Given the description of an element on the screen output the (x, y) to click on. 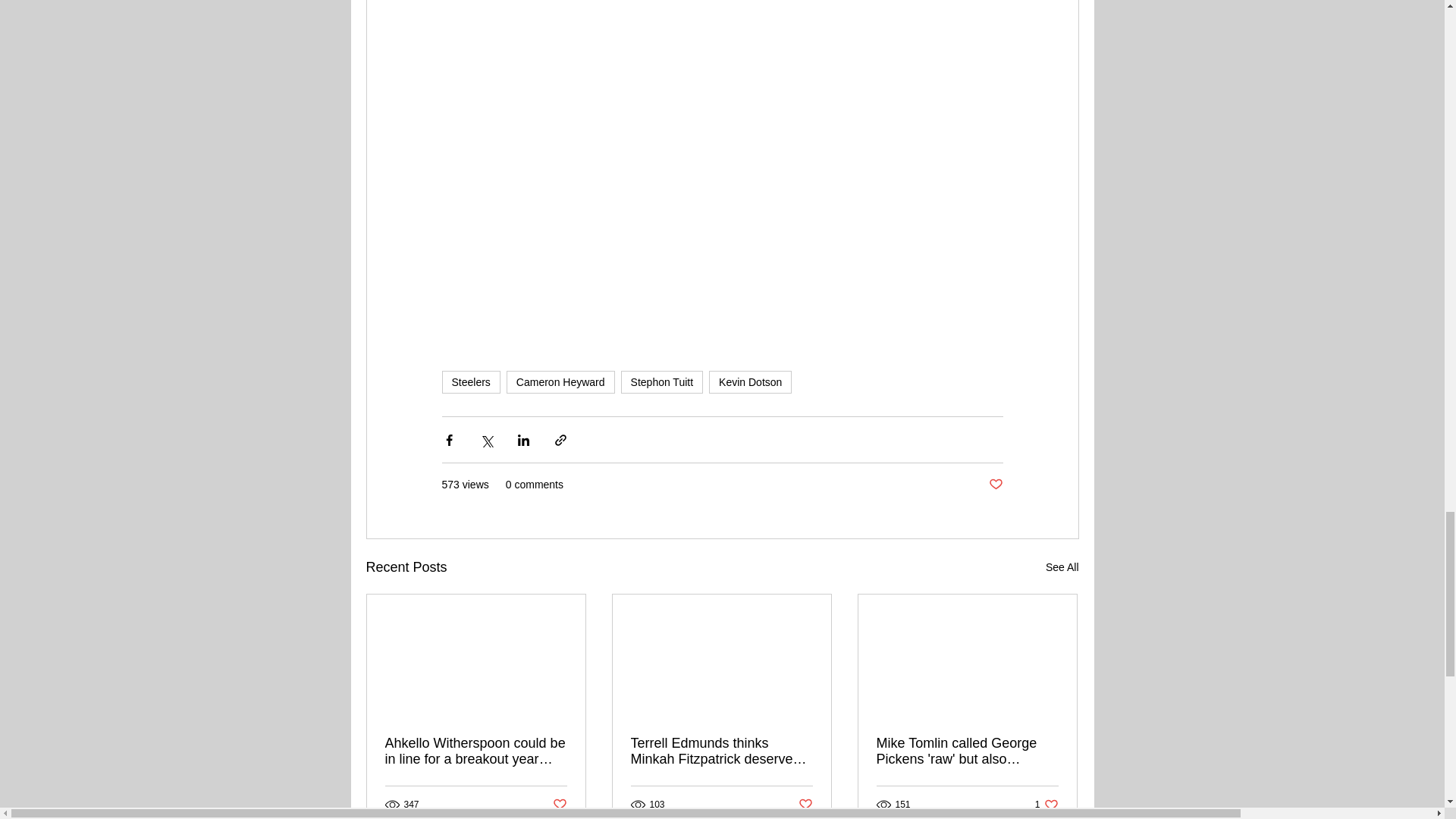
Steelers (470, 382)
Post not marked as liked (1046, 804)
Post not marked as liked (804, 804)
Kevin Dotson (558, 804)
Cameron Heyward (750, 382)
Stephon Tuitt (560, 382)
See All (662, 382)
Post not marked as liked (1061, 567)
